Given the description of an element on the screen output the (x, y) to click on. 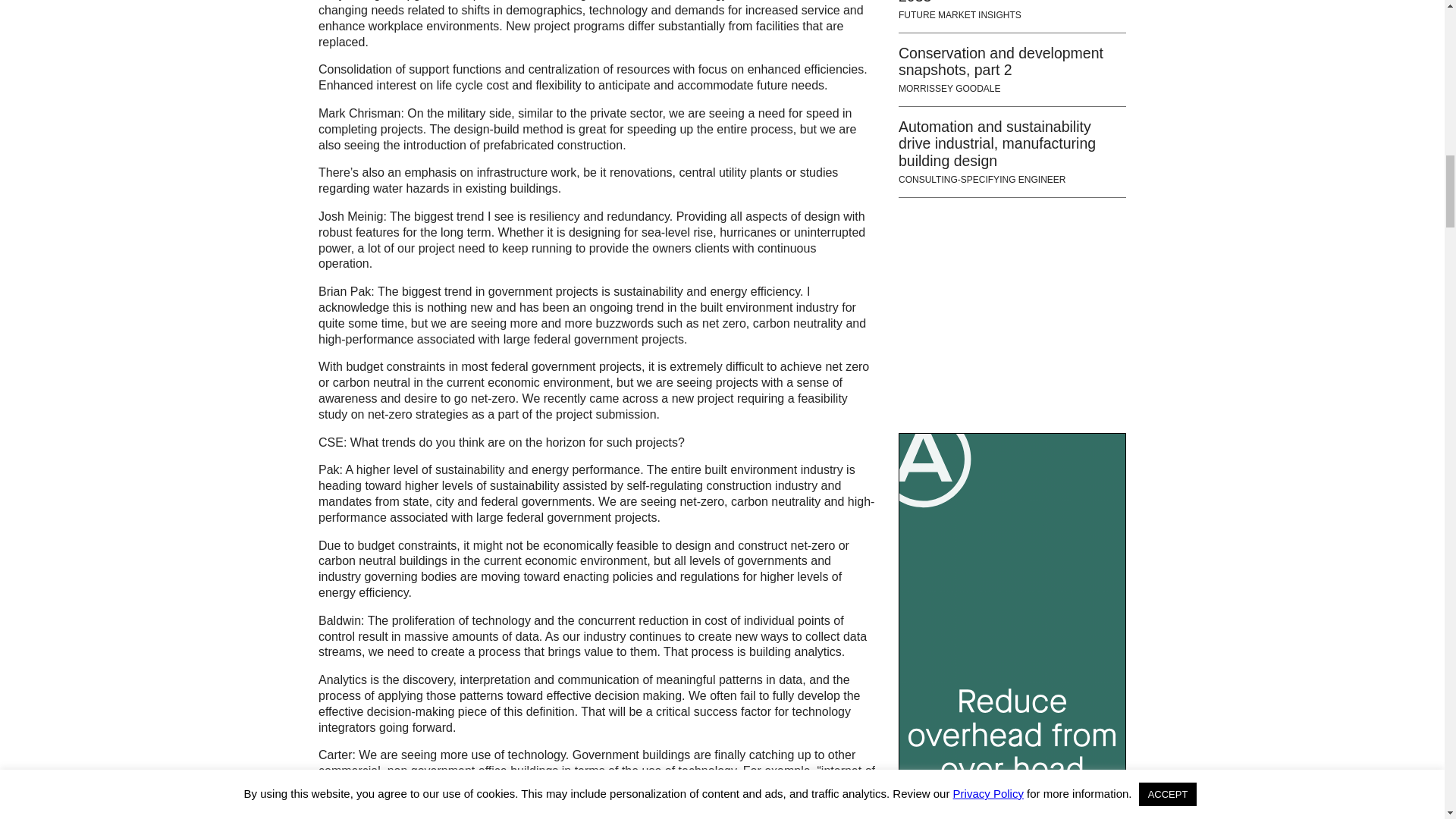
3rd party ad content (1011, 315)
